Given the description of an element on the screen output the (x, y) to click on. 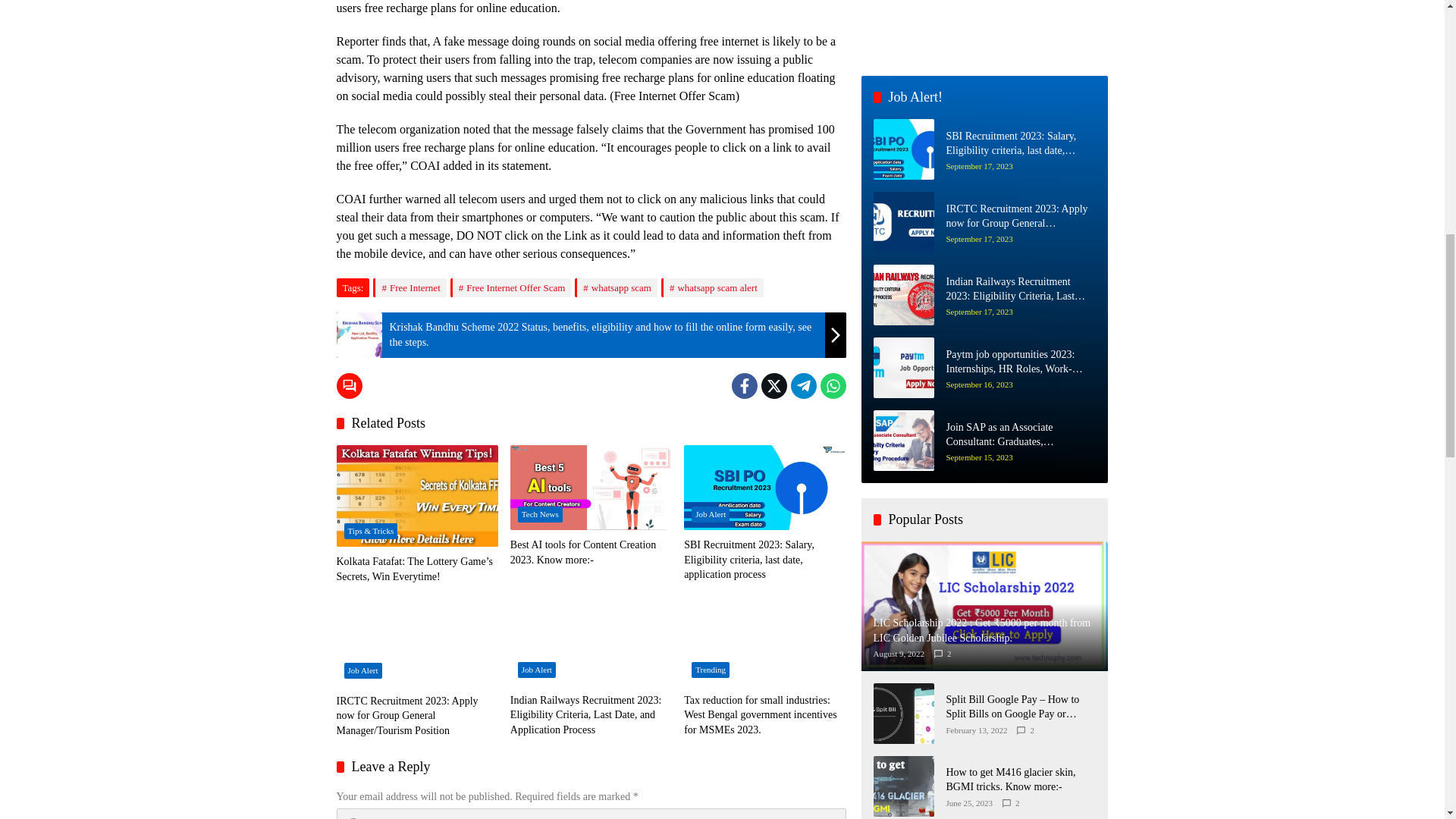
whatsapp scam alert (711, 287)
Free Internet (408, 287)
Free Internet Offer Scam (510, 287)
whatsapp scam (616, 287)
